Given the description of an element on the screen output the (x, y) to click on. 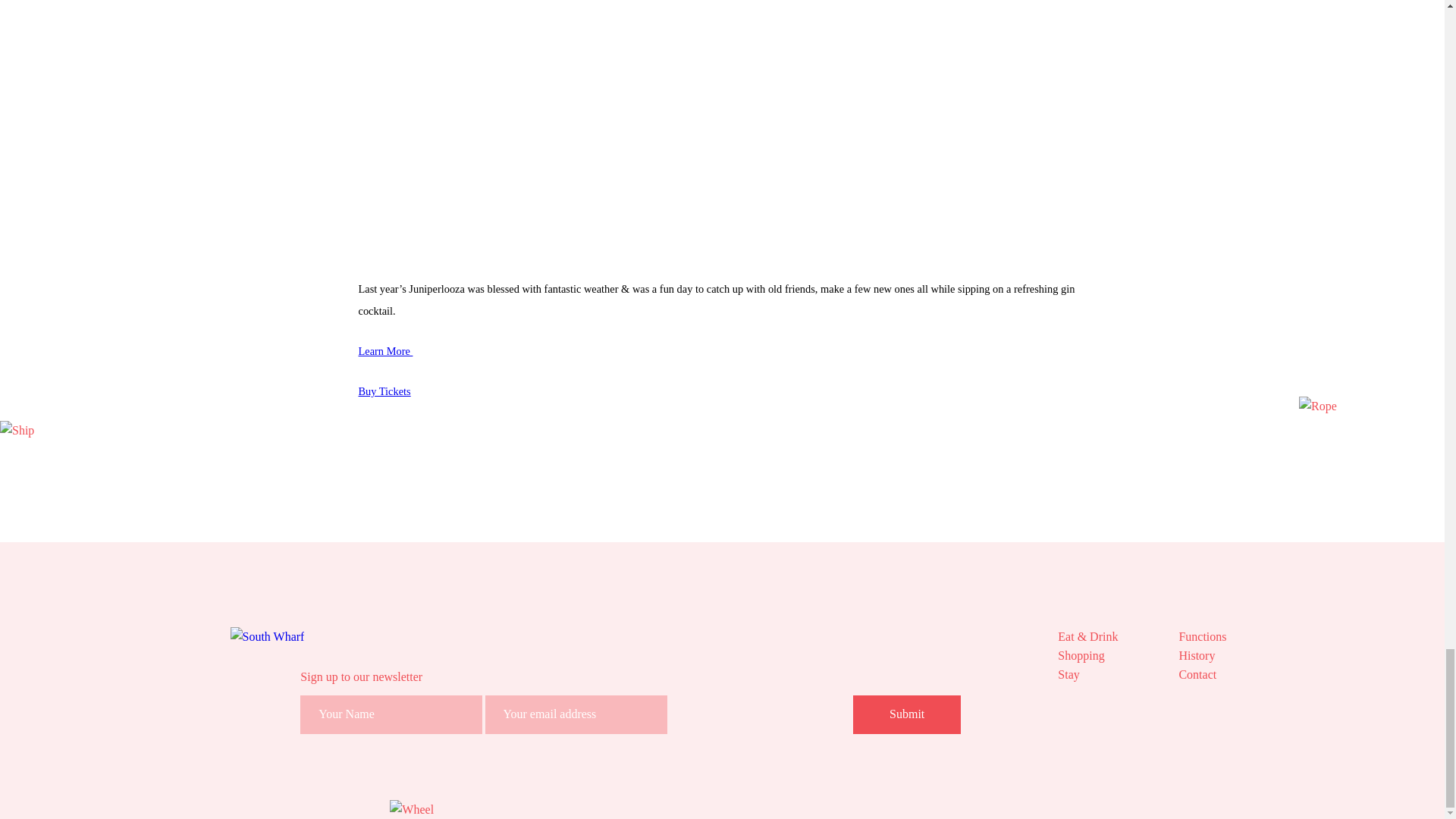
Learn More  (385, 350)
Stay (1088, 674)
Buy Tickets (384, 390)
Shopping (1088, 655)
